Given the description of an element on the screen output the (x, y) to click on. 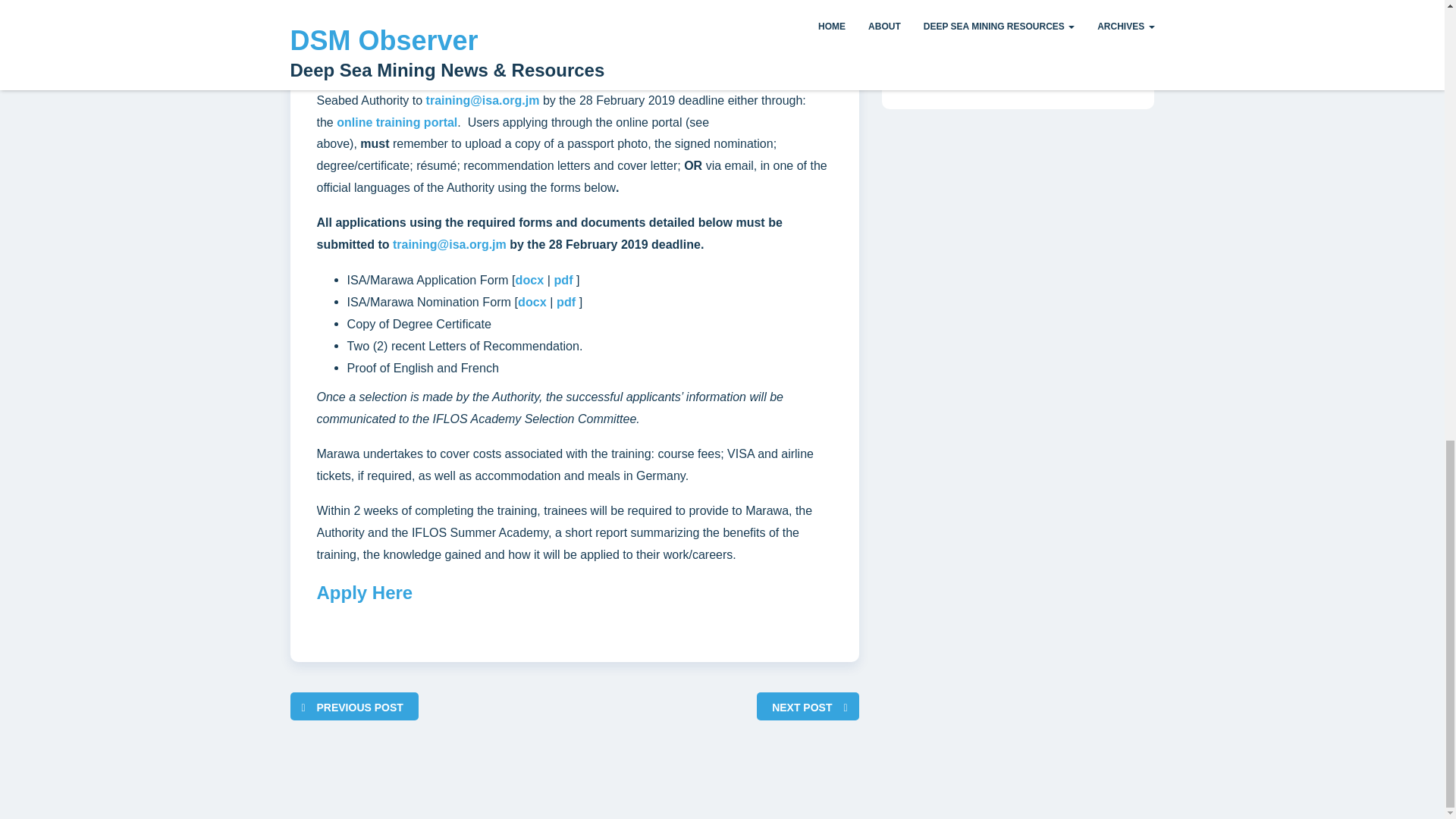
docx (529, 279)
NEXT POST (801, 707)
pdf (565, 301)
Apply Here (365, 592)
docx (532, 301)
online training portal (396, 122)
PREVIOUS POST (360, 707)
pdf (562, 279)
